Given the description of an element on the screen output the (x, y) to click on. 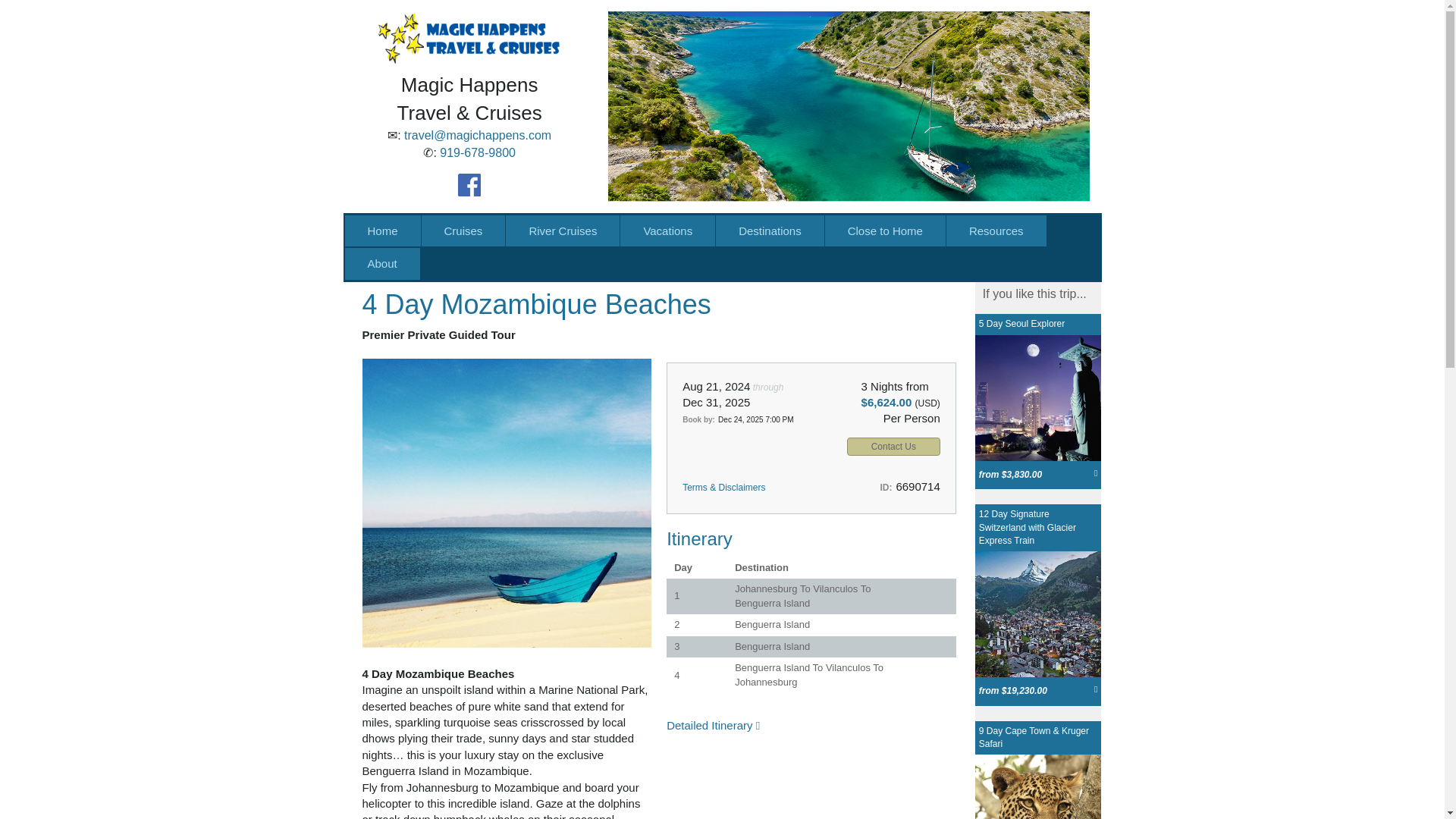
919-678-9800 (477, 152)
About (381, 264)
Contact Us (893, 446)
River Cruises (562, 231)
Resources (996, 231)
Share this page to Facebook (925, 298)
Detailed Itinerary (713, 725)
Cruises (463, 231)
Destinations (770, 231)
Home (381, 231)
